Given the description of an element on the screen output the (x, y) to click on. 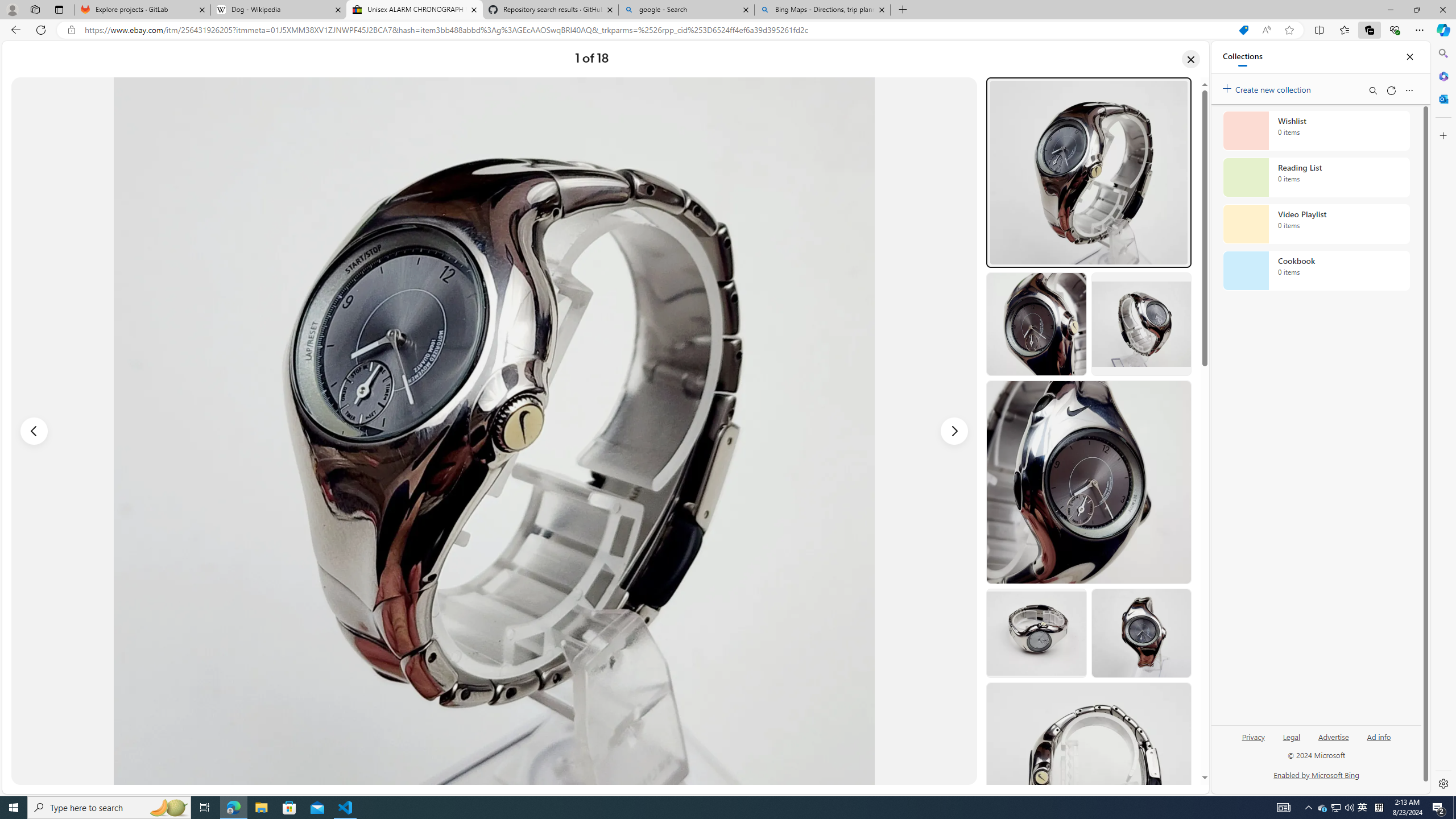
Previous image - Item images thumbnails (34, 430)
